Given the description of an element on the screen output the (x, y) to click on. 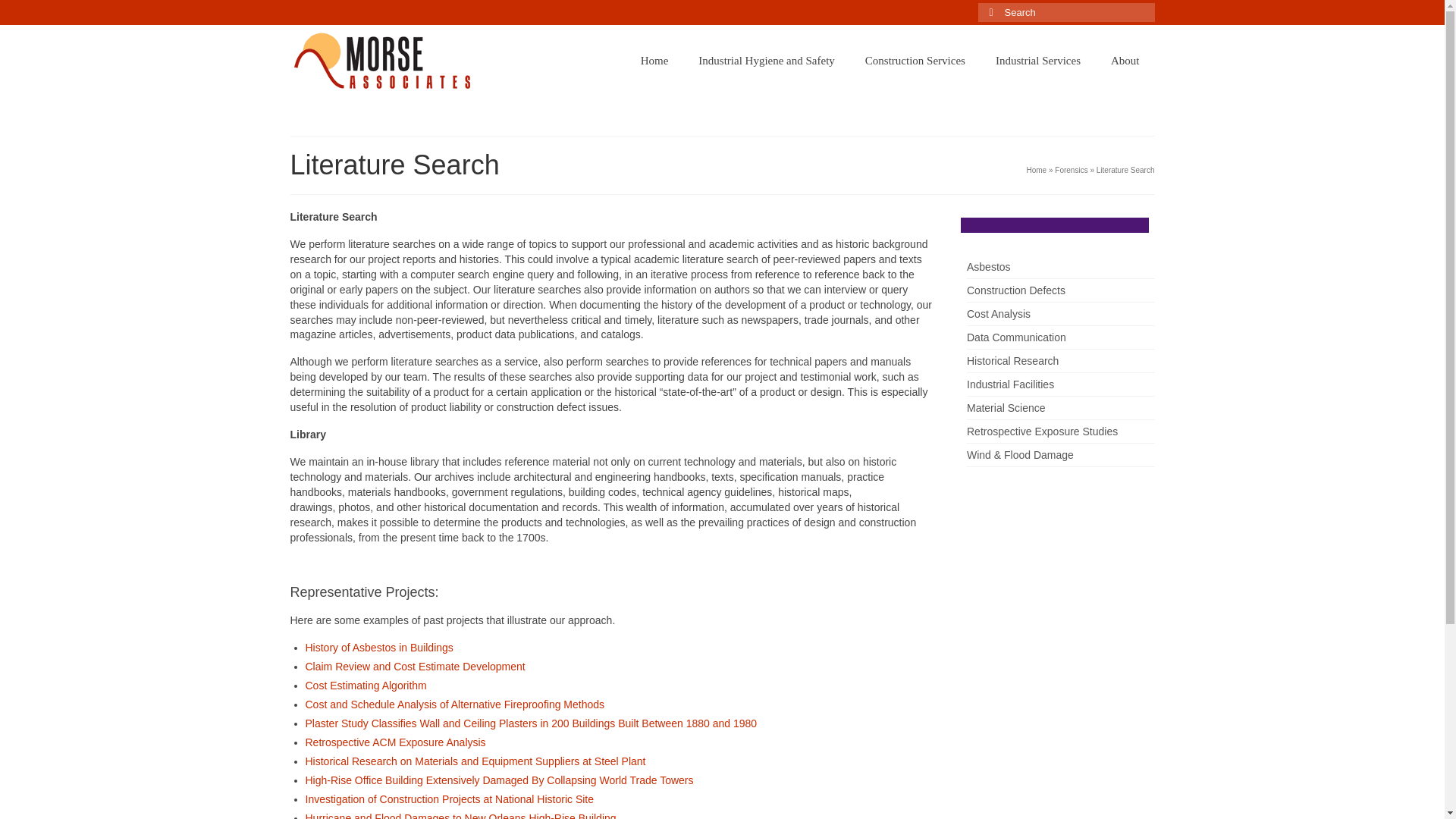
Industrial Hygiene and Safety (766, 60)
Morse Associates, Inc. (428, 68)
Industrial Services (1037, 60)
Home (655, 60)
About (1125, 60)
Construction Services (914, 60)
